Given the description of an element on the screen output the (x, y) to click on. 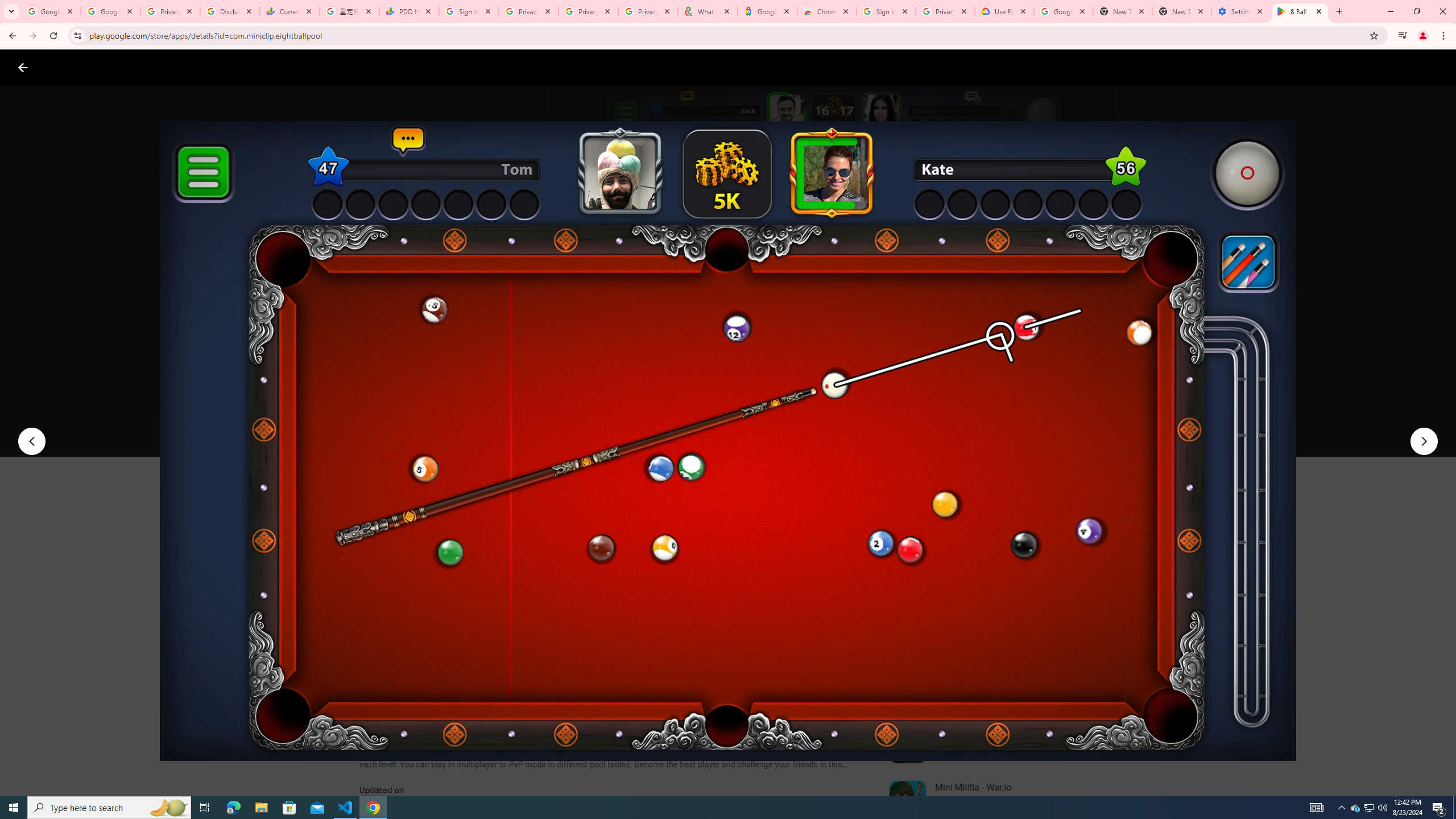
Screenshot image (817, 563)
Google (767, 11)
Share (506, 422)
More info about this content rating (575, 385)
Previous (31, 441)
See more information on About this game (472, 681)
